Given the description of an element on the screen output the (x, y) to click on. 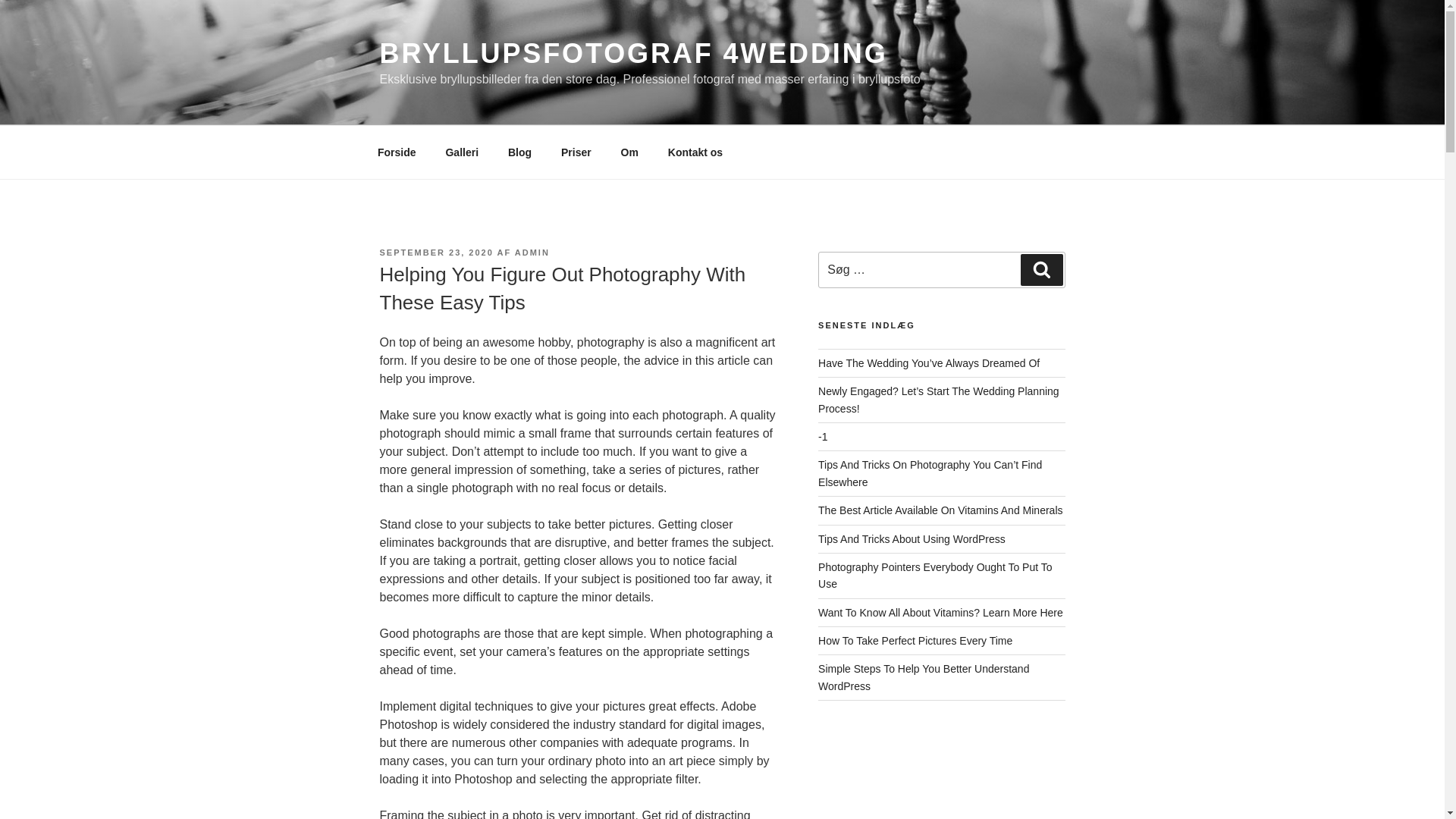
Photography Pointers Everybody Ought To Put To Use (934, 575)
How To Take Perfect Pictures Every Time (914, 640)
SEPTEMBER 23, 2020 (435, 252)
Forside (396, 151)
ADMIN (532, 252)
Om (628, 151)
Want To Know All About Vitamins? Learn More Here (940, 612)
Blog (519, 151)
Kontakt os (694, 151)
Tips And Tricks About Using WordPress (912, 538)
